Given the description of an element on the screen output the (x, y) to click on. 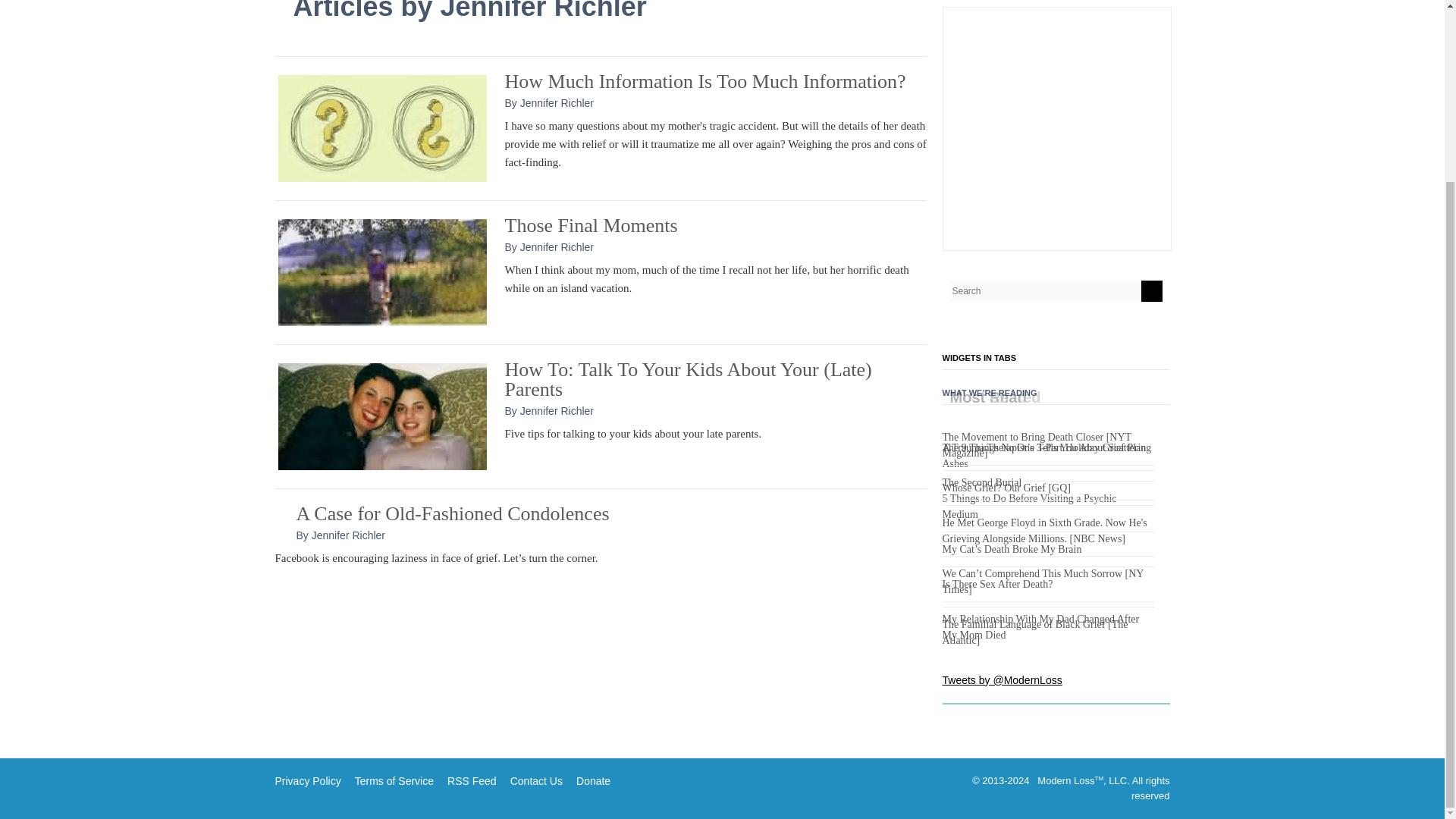
Permalink to How Much Information Is Too Much Information? (705, 81)
Permalink to Those Final Moments (591, 225)
Search (1150, 291)
Permalink to A Case for Old-Fashioned Condolences (451, 513)
Permalink to Those Final Moments (382, 271)
Posts by Jennifer Richler (556, 410)
Permalink to How Much Information Is Too Much Information? (382, 127)
Posts by Jennifer Richler (556, 246)
Posts by Jennifer Richler (348, 535)
Posts by Jennifer Richler (556, 102)
